Given the description of an element on the screen output the (x, y) to click on. 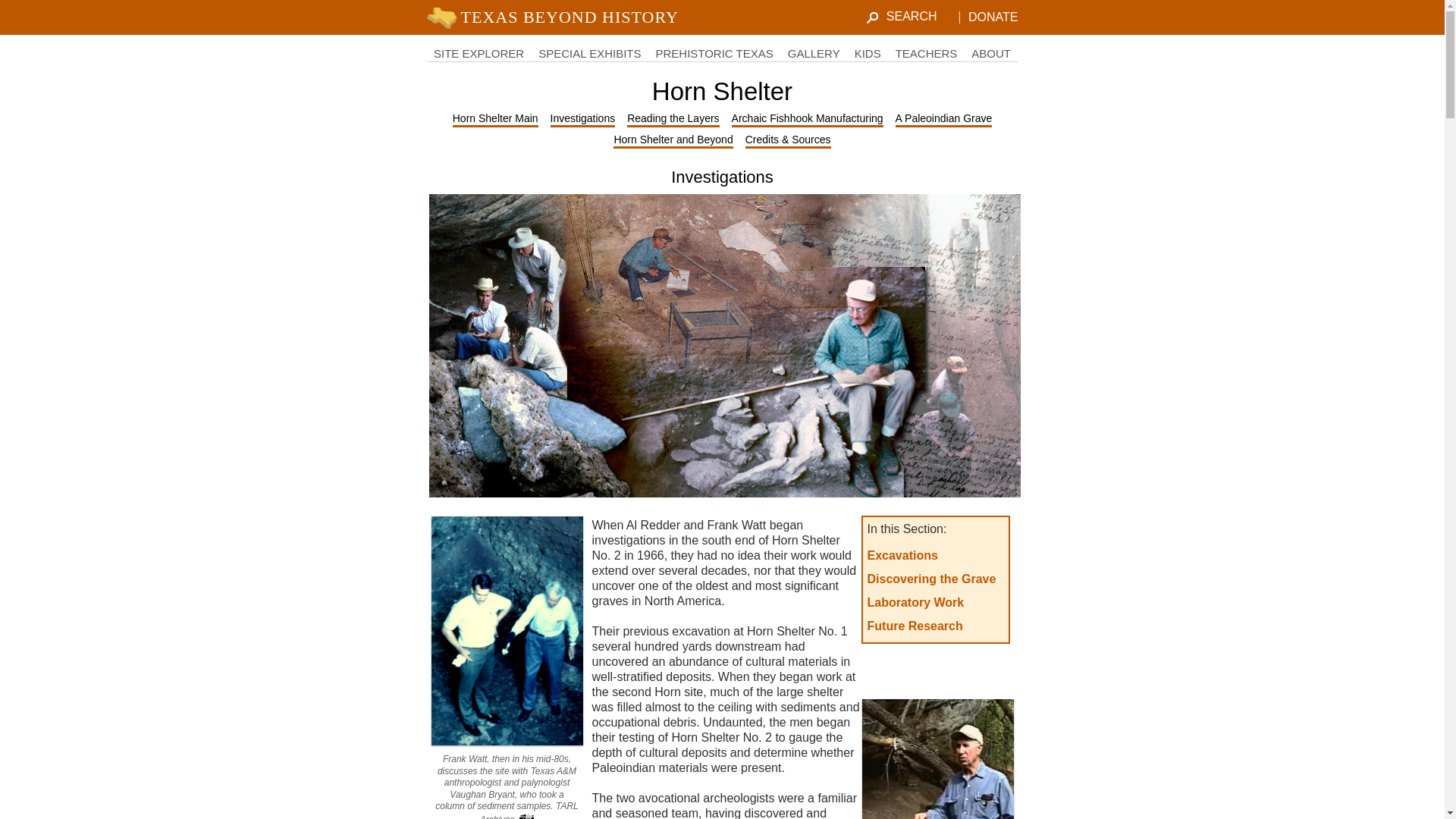
DONATE (992, 17)
TEACHERS (926, 52)
KIDS (867, 52)
Go (11, 6)
SPECIAL EXHIBITS (589, 52)
Search (917, 17)
SITE EXPLORER (478, 52)
TBH Home (555, 17)
PREHISTORIC TEXAS (714, 52)
